Given the description of an element on the screen output the (x, y) to click on. 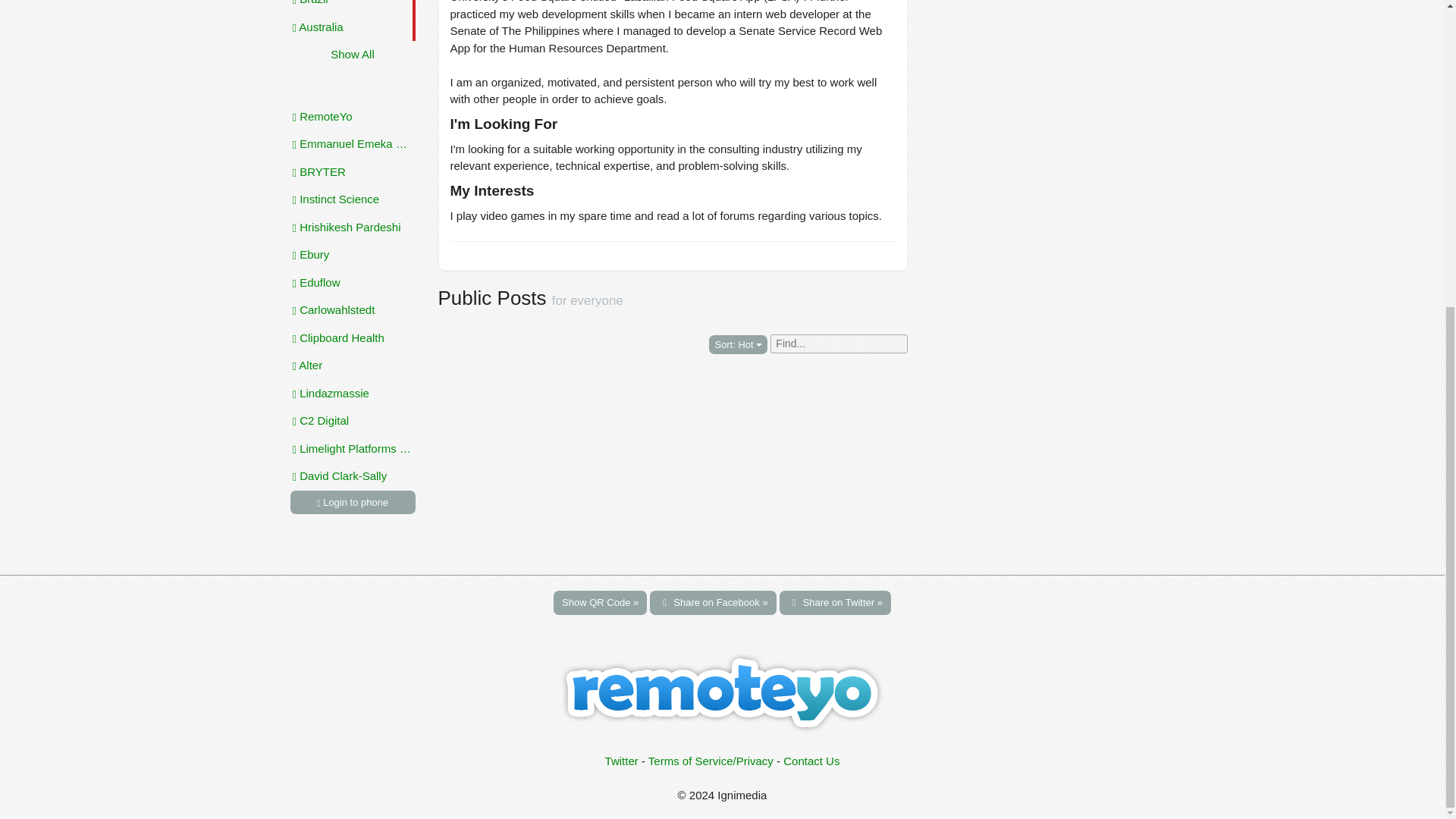
Updated 6 months ago (351, 117)
Instinct Science (351, 199)
Updated - (351, 476)
Lindazmassie (351, 393)
Updated - (351, 199)
Clipboard Health (351, 338)
RemoteYo (351, 117)
Updated - (351, 393)
Updated - (351, 227)
Brazil (351, 6)
